Given the description of an element on the screen output the (x, y) to click on. 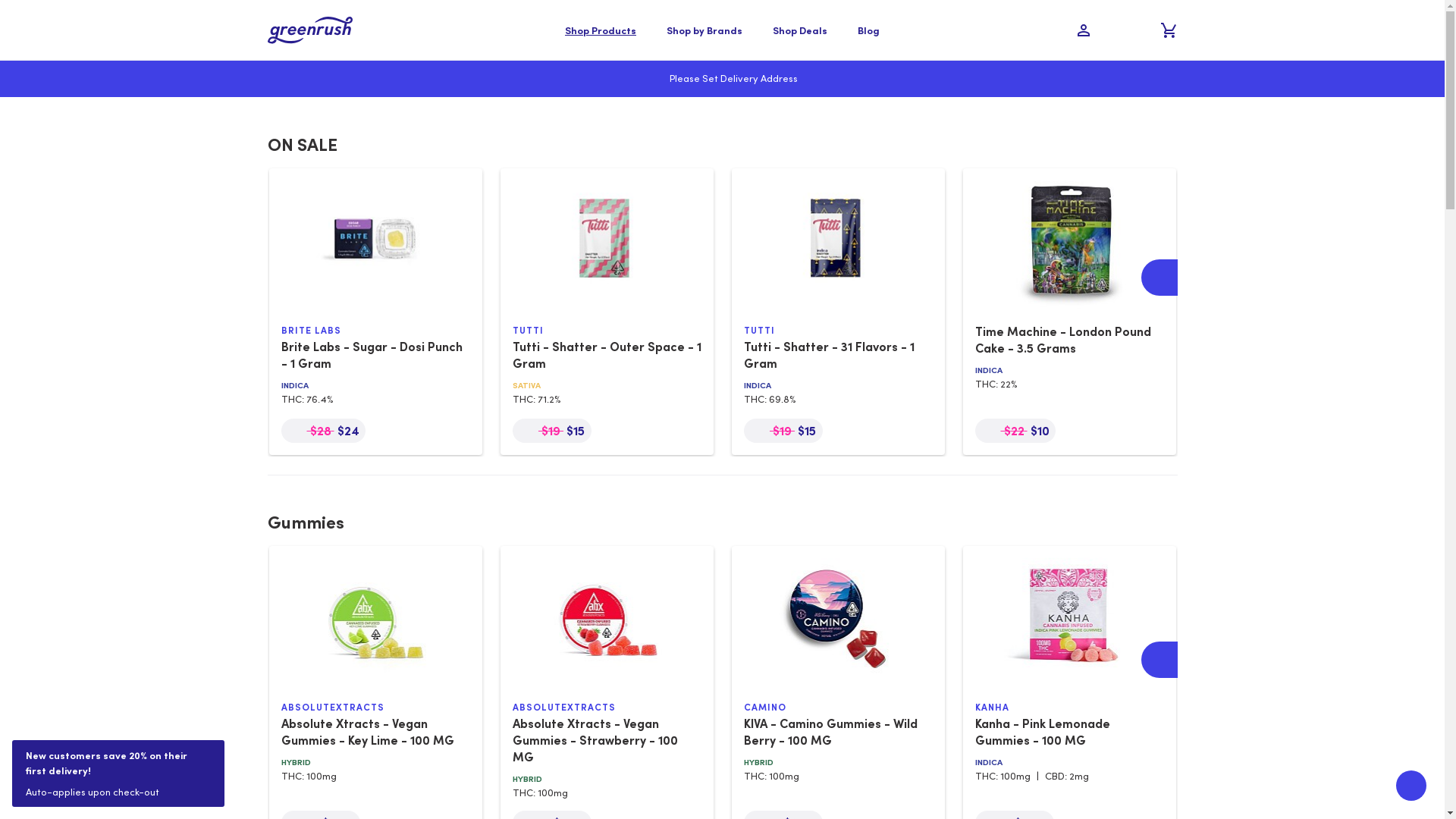
 $22  $10 Element type: text (1015, 430)
Time Machine - London Pound Cake - 3.5 Grams Element type: text (1063, 339)
Kanha - Pink Lemonade Gummies - 100 MG Element type: text (1042, 731)
Tutti - Shatter - Outer Space - 1 Gram Element type: text (606, 354)
Shop Products Element type: text (600, 29)
Please Set Delivery Address Element type: text (722, 78)
 $19  $15 Element type: text (551, 430)
 $28  $24 Element type: text (322, 430)
Shop by Brands Element type: text (704, 29)
Tutti - Shatter - 31 Flavors - 1 Gram Element type: text (828, 354)
ABSOLUTEXTRACTS Element type: text (374, 707)
Blog Element type: text (868, 29)
Absolute Xtracts - Vegan Gummies - Strawberry - 100 MG Element type: text (594, 739)
Absolute Xtracts - Vegan Gummies - Key Lime - 100 MG Element type: text (366, 731)
KIVA - Camino Gummies - Wild Berry - 100 MG Element type: text (829, 731)
ABSOLUTEXTRACTS Element type: text (606, 707)
Brite Labs - Sugar - Dosi Punch - 1 Gram Element type: text (370, 354)
 $19  $15 Element type: text (782, 430)
Shop Deals Element type: text (799, 29)
TUTTI Element type: text (837, 330)
TUTTI Element type: text (606, 330)
CAMINO Element type: text (837, 707)
BRITE LABS Element type: text (374, 330)
KANHA Element type: text (1069, 707)
